Given the description of an element on the screen output the (x, y) to click on. 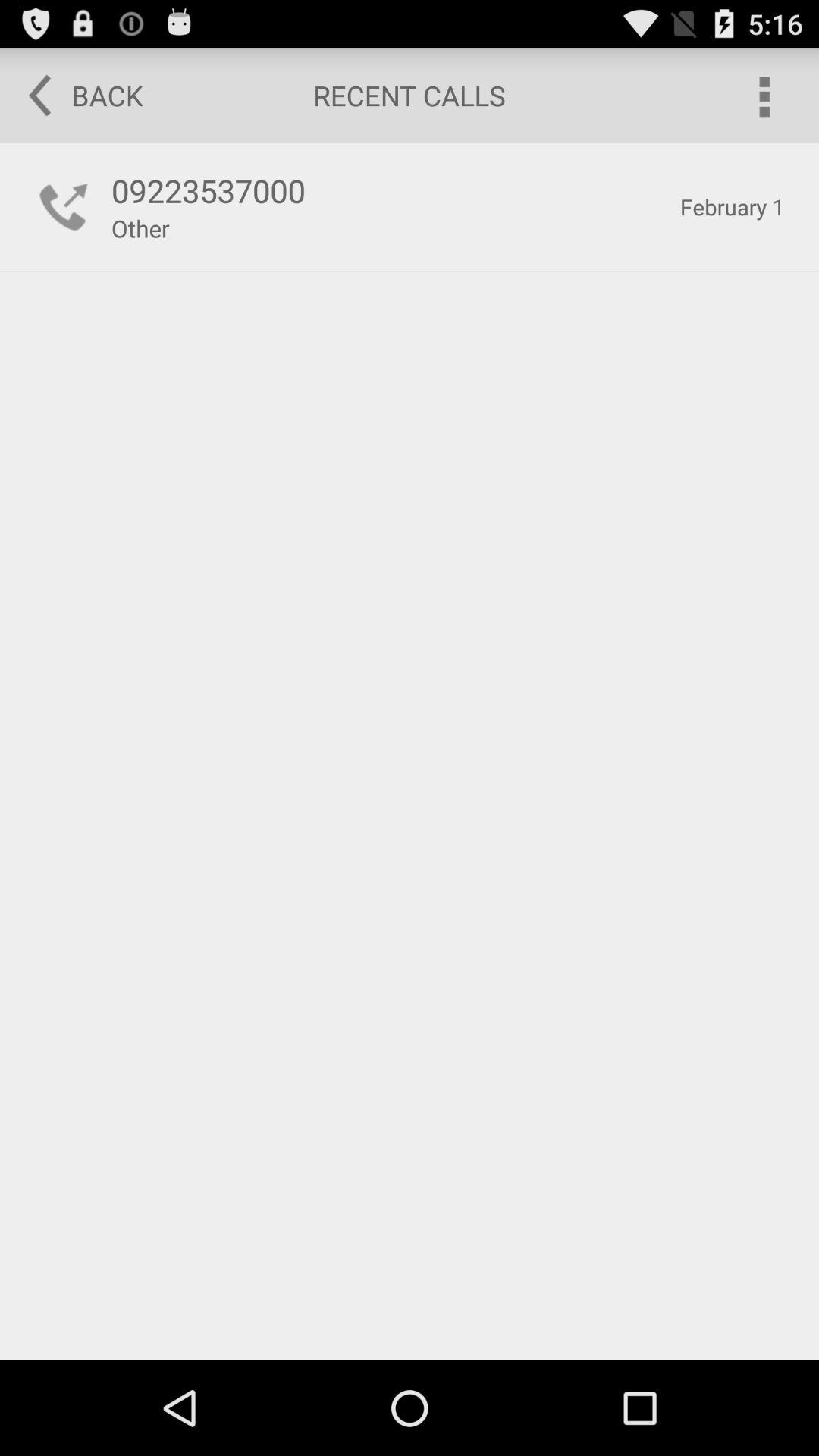
press the item above the other icon (387, 190)
